Given the description of an element on the screen output the (x, y) to click on. 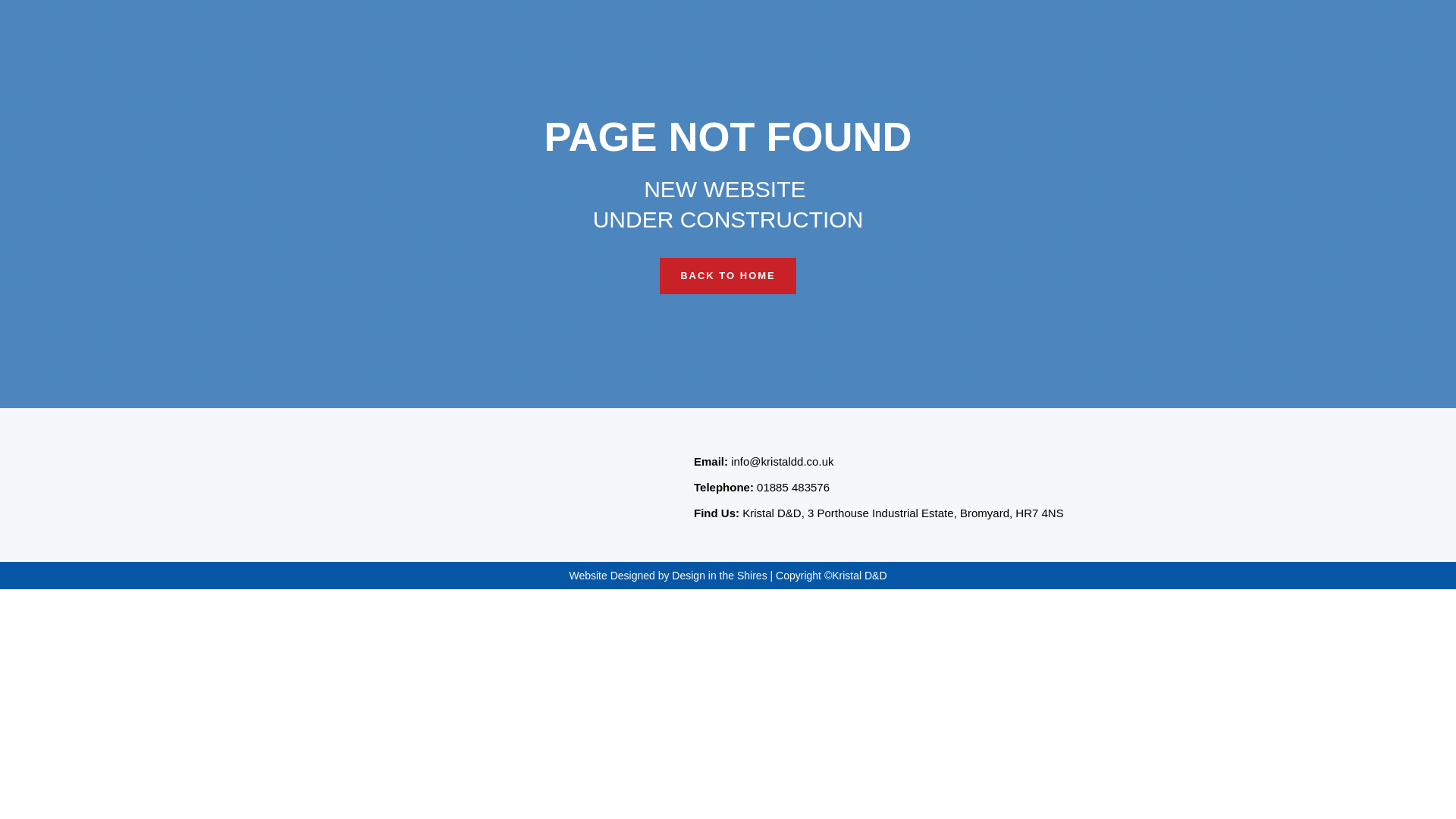
Website Designed by Design in the Shires (668, 575)
BACK TO HOME (727, 275)
Telephone: 01885 483576 (761, 487)
